Given the description of an element on the screen output the (x, y) to click on. 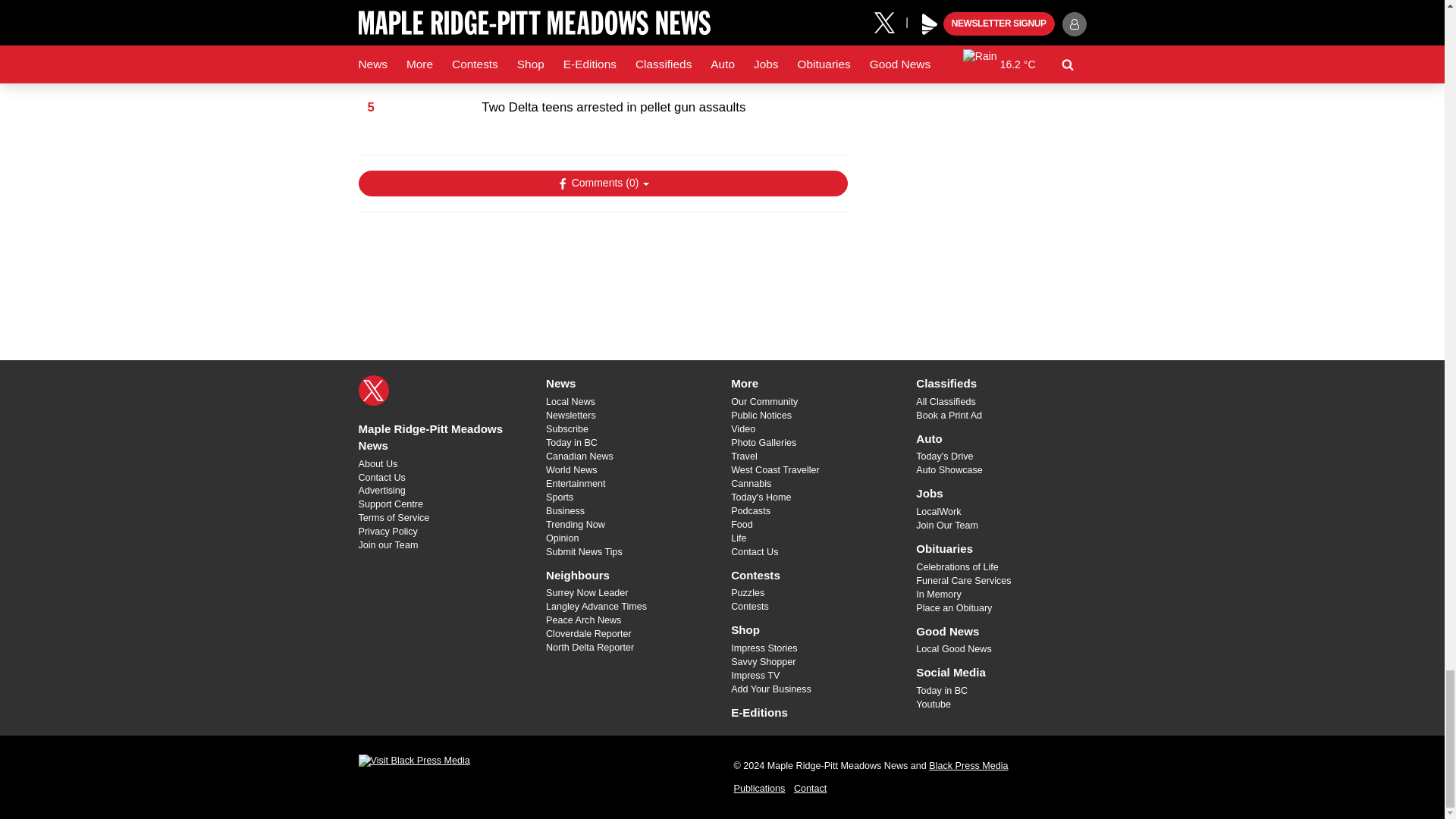
Show Comments (602, 183)
X (373, 390)
